Given the description of an element on the screen output the (x, y) to click on. 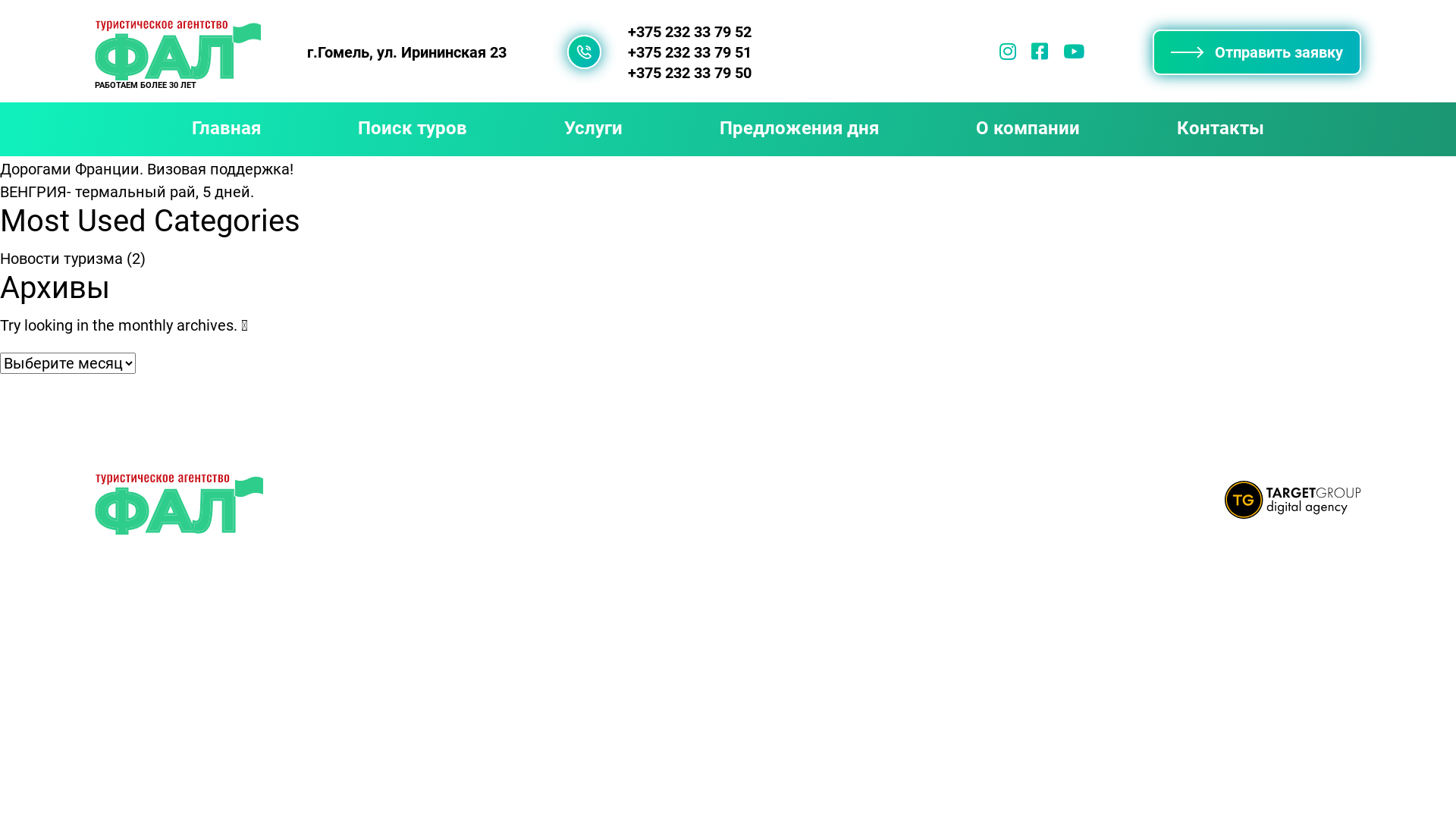
+375 232 33 79 51 Element type: text (689, 51)
+375 232 33 79 52 Element type: text (689, 31)
+375 232 33 79 50 Element type: text (689, 72)
